Given the description of an element on the screen output the (x, y) to click on. 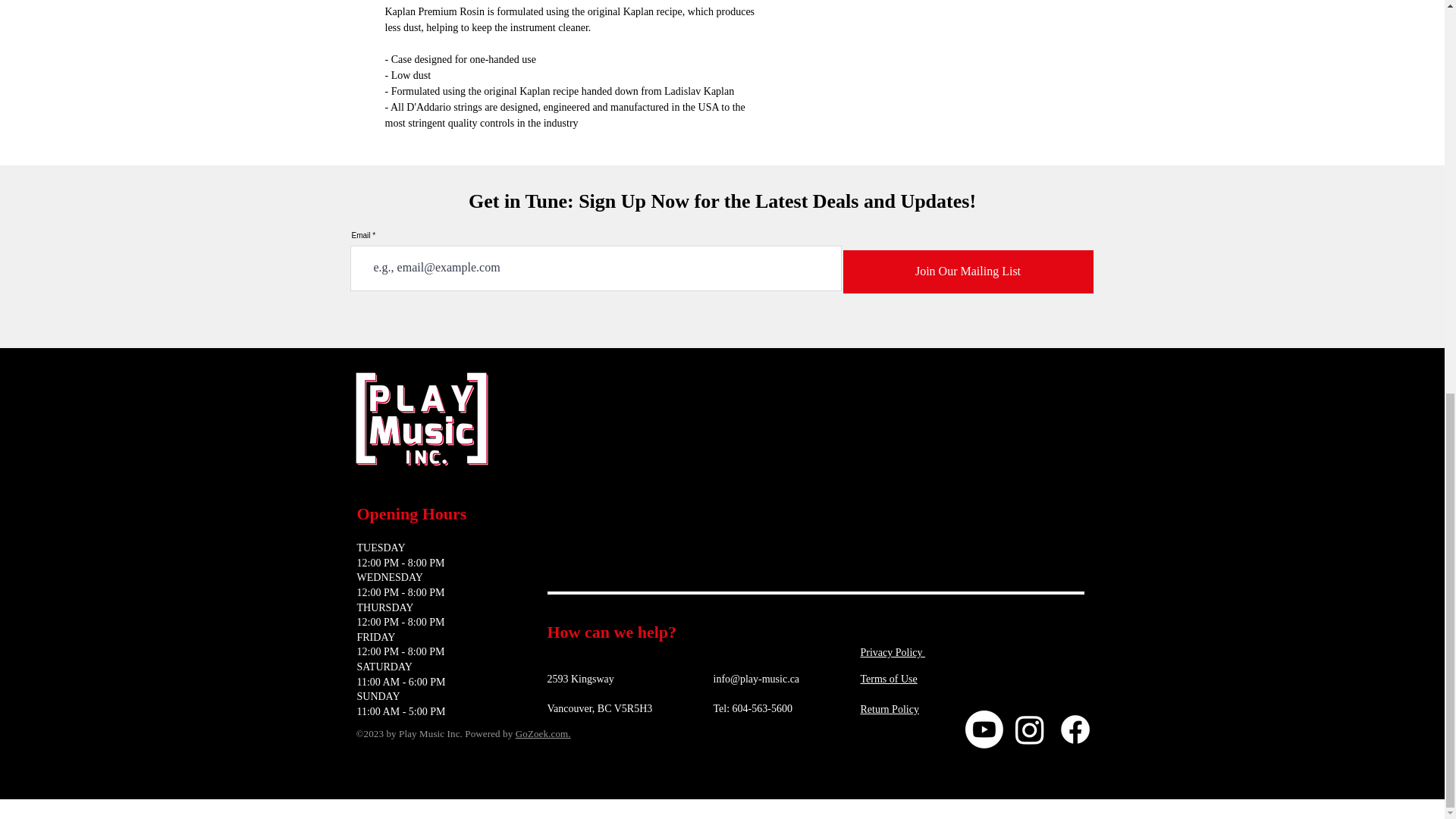
Terms of Use (888, 678)
GoZoek.com. (542, 733)
Join Our Mailing List (968, 271)
Privacy Policy  (892, 652)
Return Policy (889, 708)
